Given the description of an element on the screen output the (x, y) to click on. 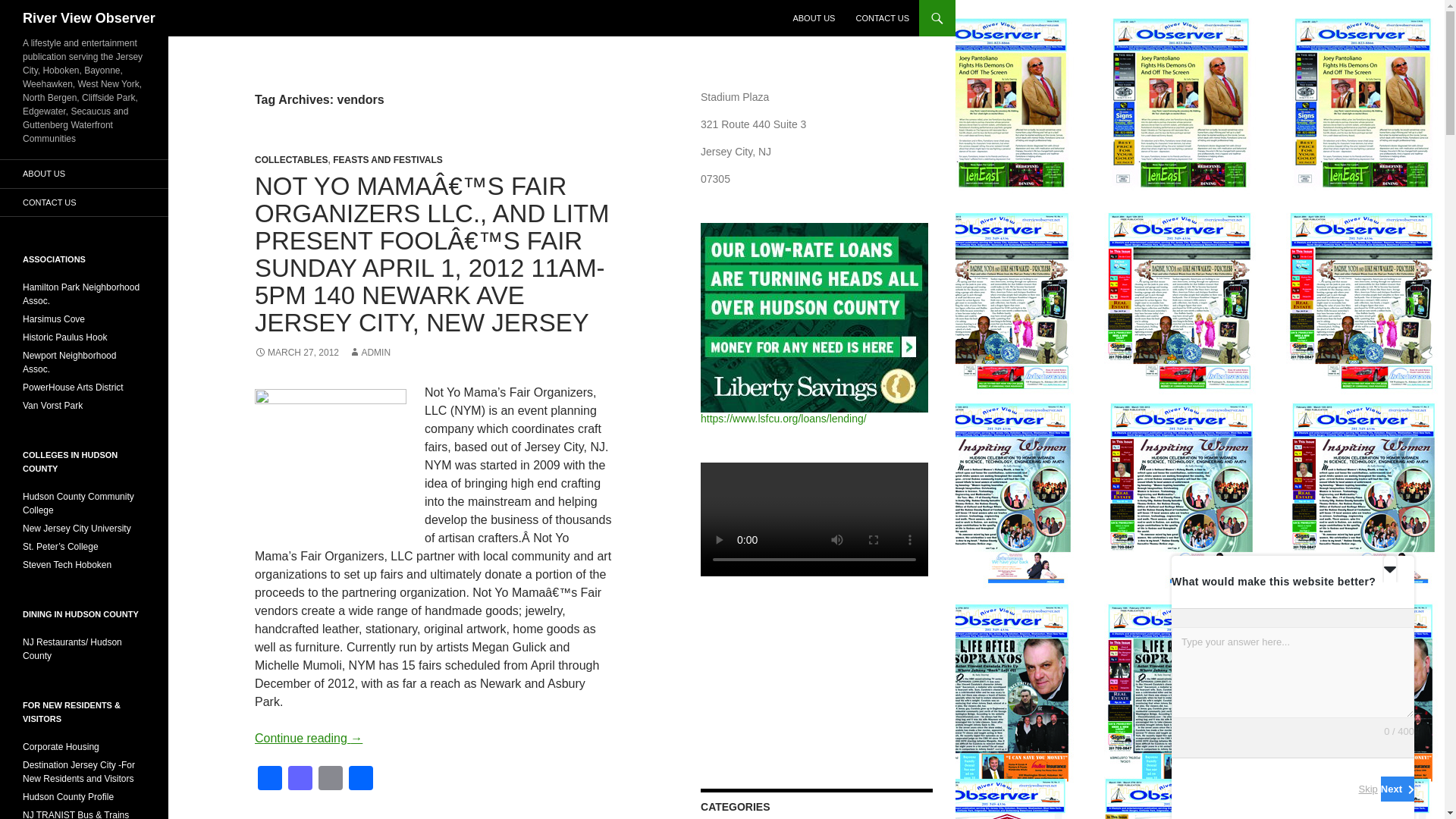
ABOUT US (813, 18)
not (330, 464)
Mastodon (300, 779)
Email (330, 779)
MARCH 27, 2012 (296, 352)
Share (360, 779)
ADMIN (369, 352)
Email (330, 779)
COLLECTABLES (290, 159)
Facebook (269, 779)
